Given the description of an element on the screen output the (x, y) to click on. 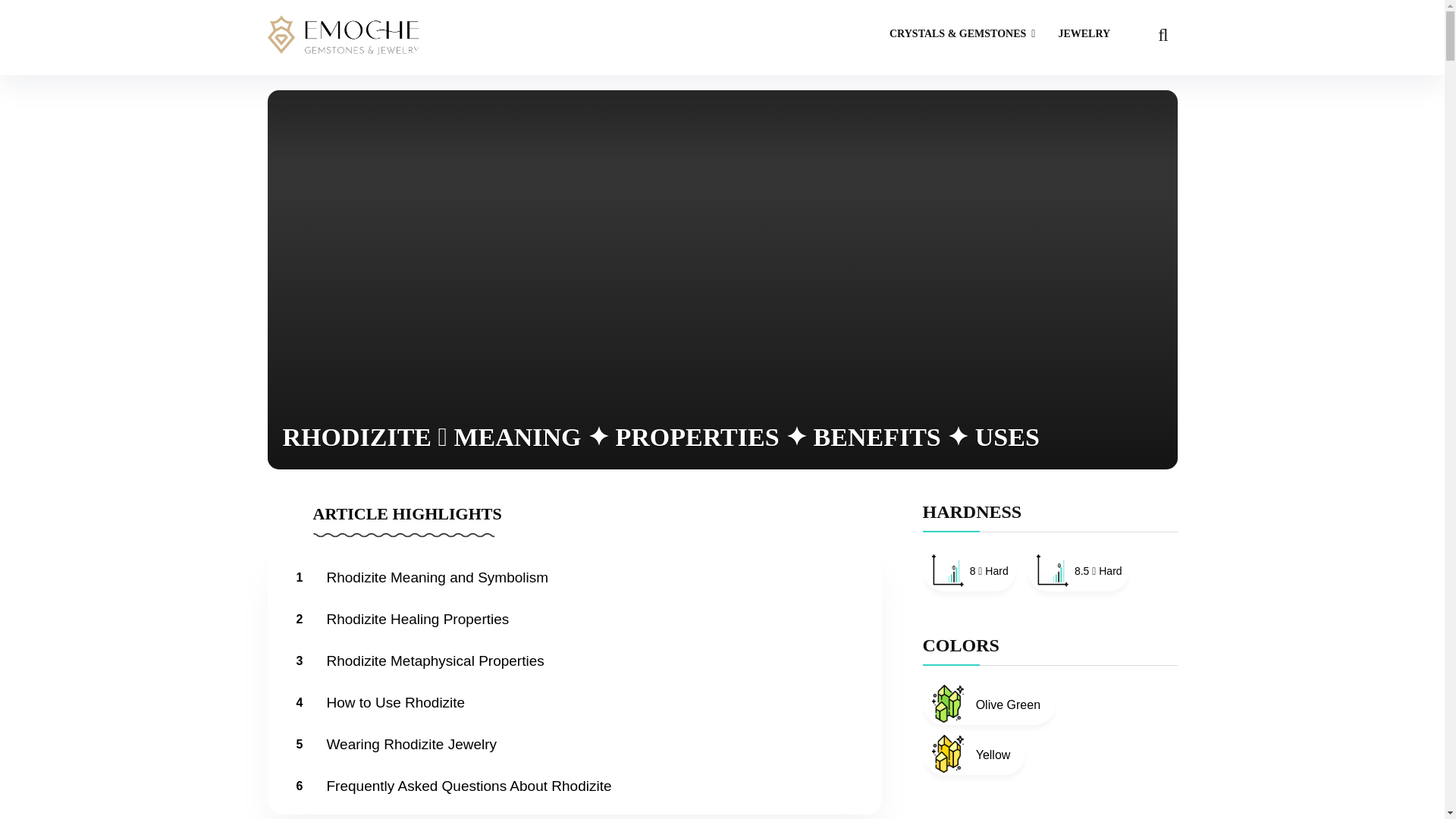
Rhodizite Healing Properties (418, 618)
Rhodizite Meaning and Symbolism (438, 577)
How to Use Rhodizite (396, 702)
Rhodizite Meaning and Symbolism (438, 577)
JEWELRY (1083, 35)
Olive Green (988, 703)
Wearing Rhodizite Jewelry (412, 744)
Frequently Asked Questions About Rhodizite (469, 785)
Wearing Rhodizite Jewelry (412, 744)
Rhodizite Metaphysical Properties (436, 660)
